Given the description of an element on the screen output the (x, y) to click on. 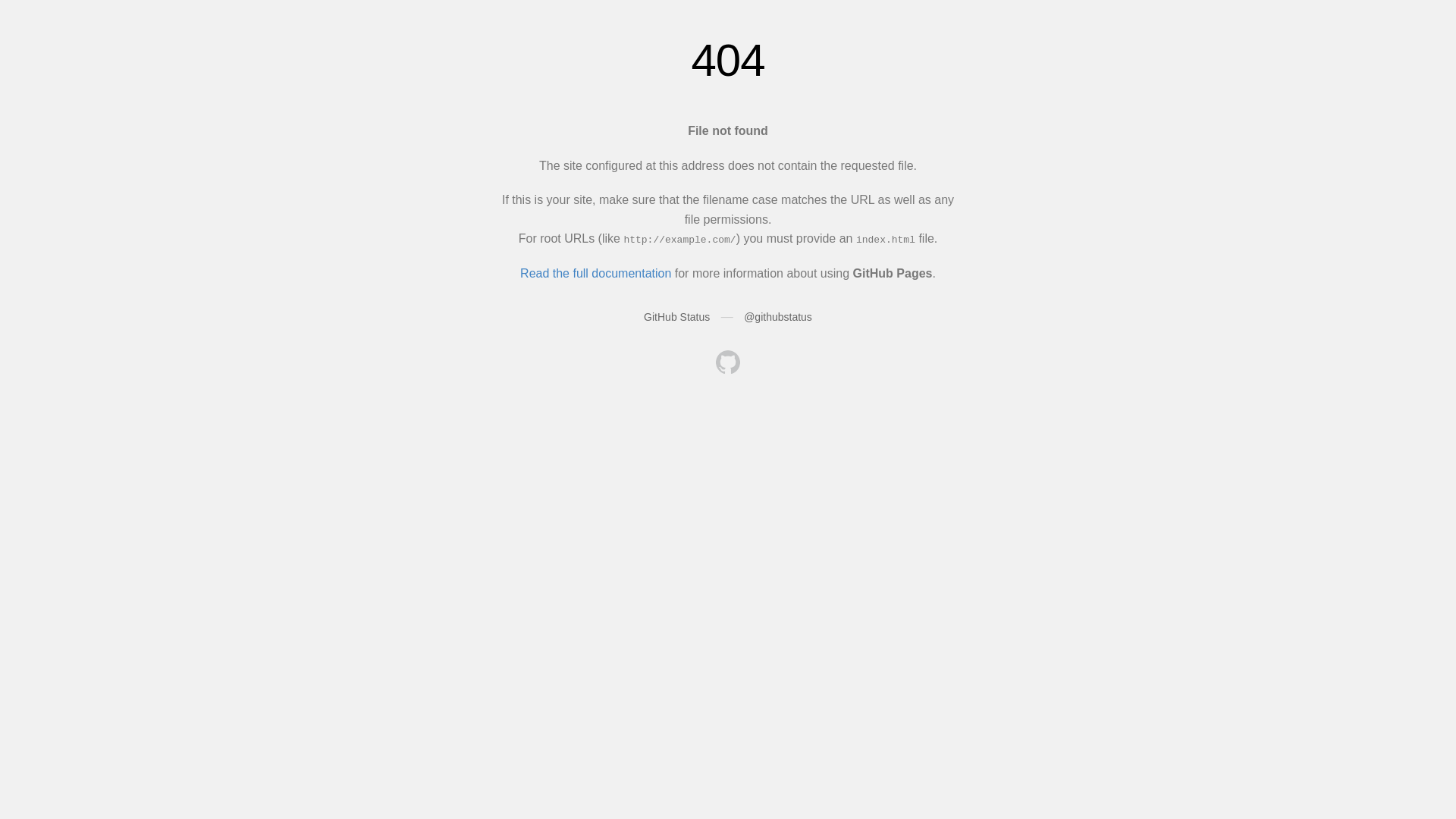
@githubstatus Element type: text (777, 316)
Read the full documentation Element type: text (595, 272)
GitHub Status Element type: text (676, 316)
